Given the description of an element on the screen output the (x, y) to click on. 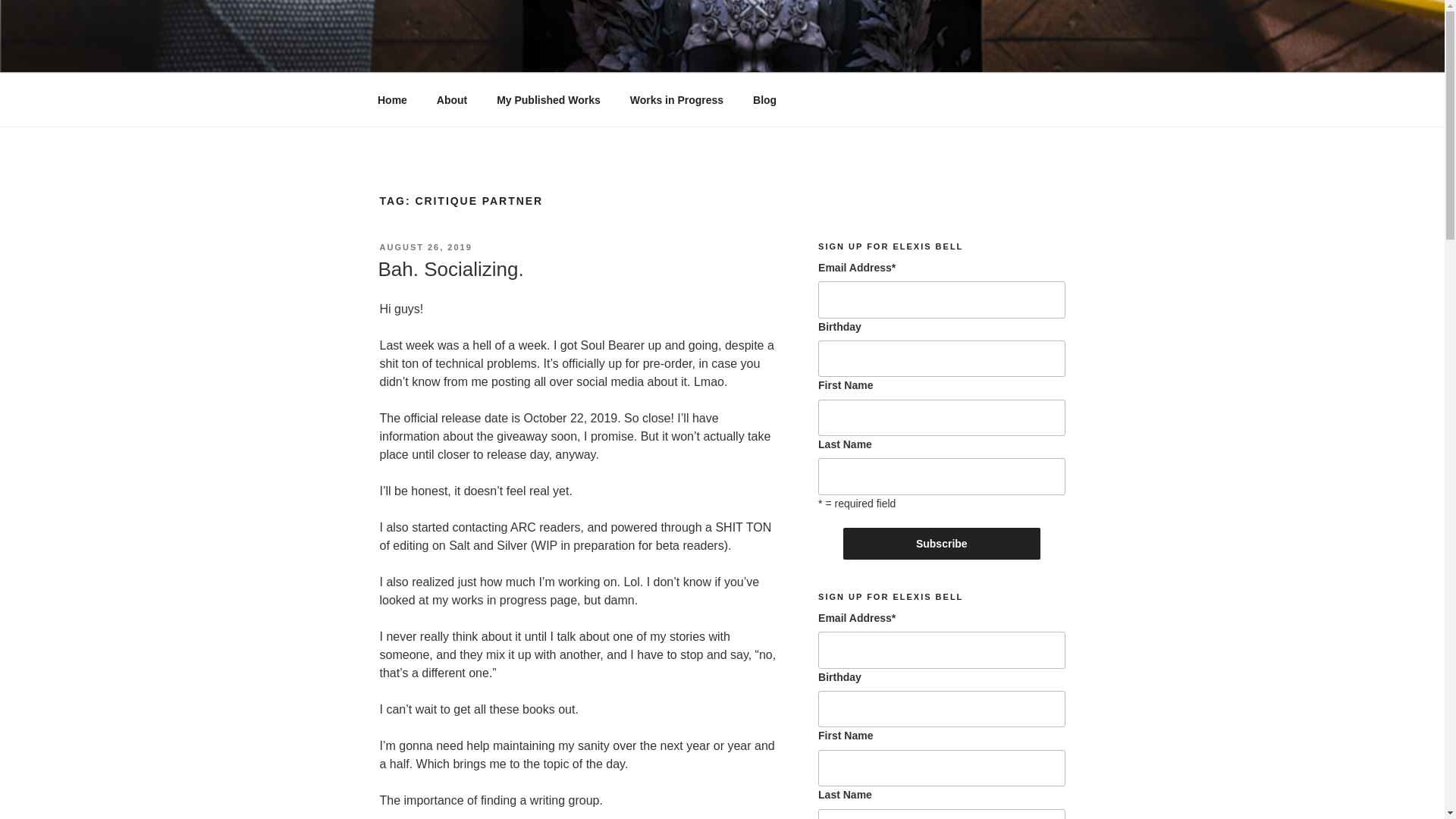
Blog (764, 99)
Bah. Socializing. (449, 268)
My Published Works (548, 99)
Home (392, 99)
Subscribe (942, 543)
Works in Progress (675, 99)
ELEXIS BELL (478, 52)
About (451, 99)
Subscribe (942, 543)
AUGUST 26, 2019 (424, 246)
